Given the description of an element on the screen output the (x, y) to click on. 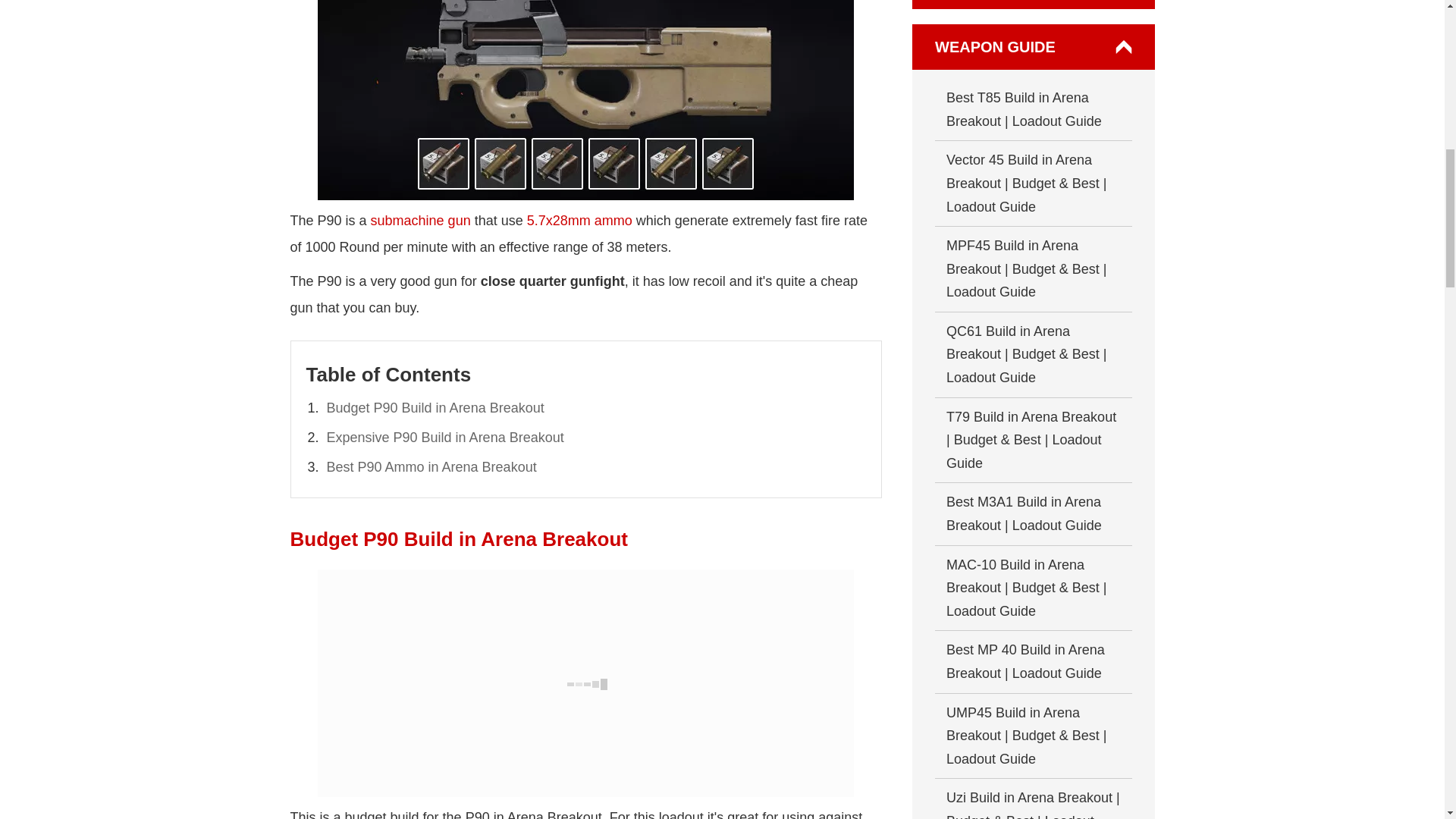
Best P90 Ammo in Arena Breakout (430, 467)
Budget P90 Build in Arena Breakout (585, 682)
Expensive P90 Build in Arena Breakout (444, 437)
Budget P90 Build in Arena Breakout (434, 407)
5.7x28mm ammo (579, 220)
submachine gun (420, 220)
